Given the description of an element on the screen output the (x, y) to click on. 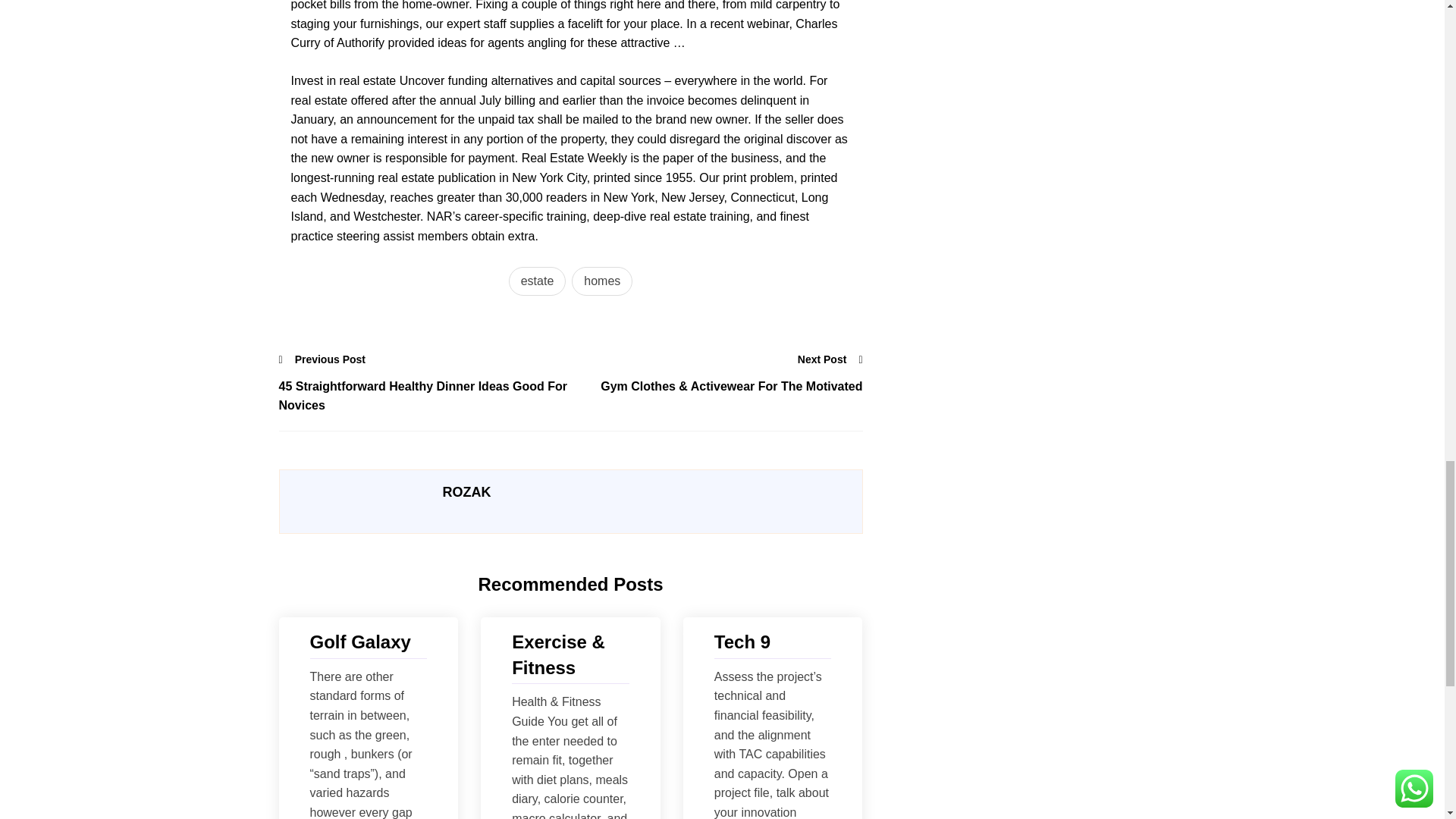
Tech 9 (772, 642)
Golf Galaxy (367, 642)
45 Straightforward Healthy Dinner Ideas Good For Novices (424, 395)
homes (601, 280)
Next Post (830, 359)
Previous Post (322, 359)
estate (537, 280)
